Given the description of an element on the screen output the (x, y) to click on. 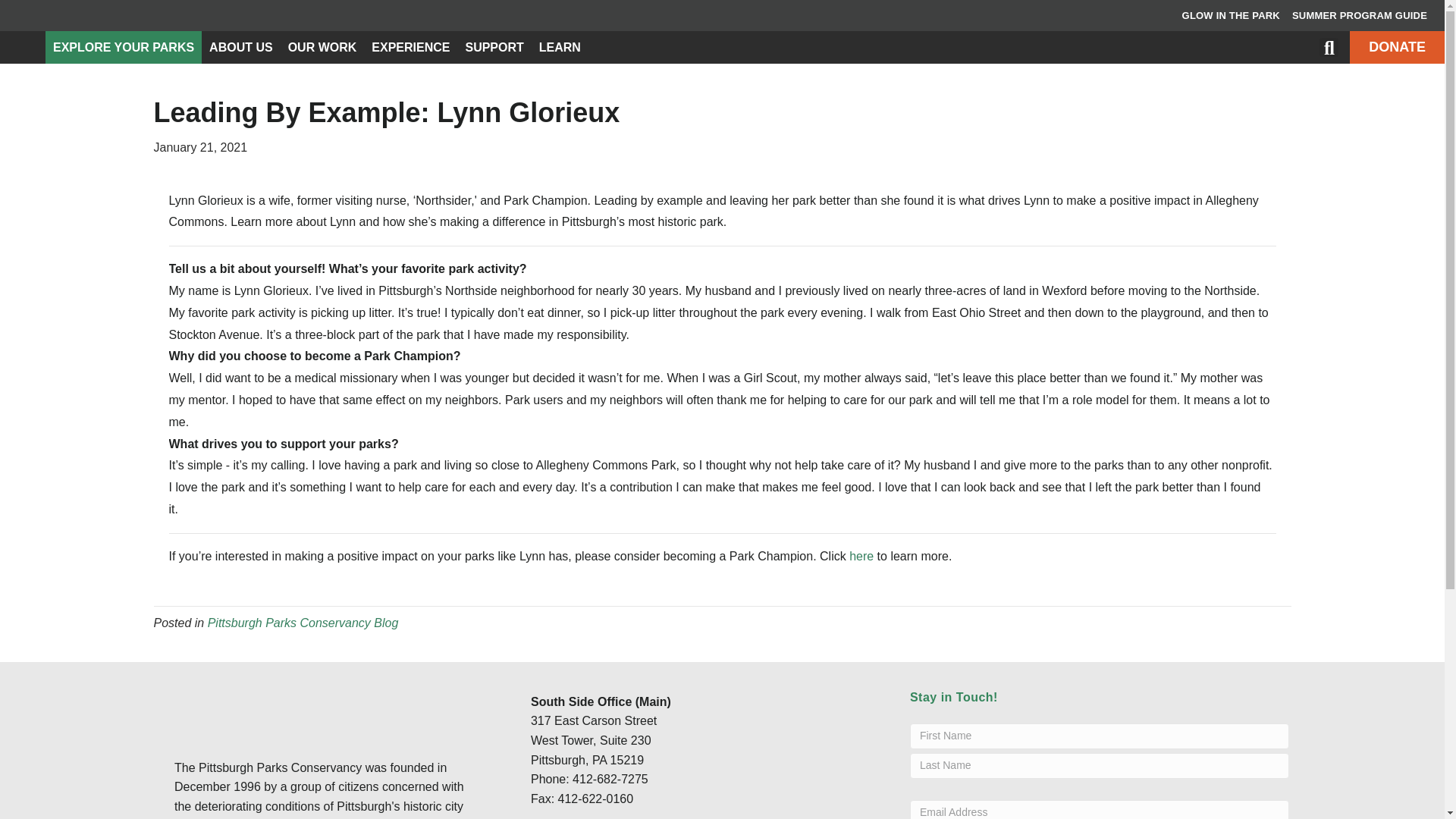
Last Name (1099, 765)
PPC P Icon (22, 47)
PPC Logo Horizontal Cropped (250, 708)
ABOUT US (241, 47)
EXPERIENCE (410, 47)
GLOW IN THE PARK (1230, 16)
First Name (1099, 736)
SUMMER PROGRAM GUIDE (1358, 16)
Email Address (1099, 809)
OUR WORK (323, 47)
